Given the description of an element on the screen output the (x, y) to click on. 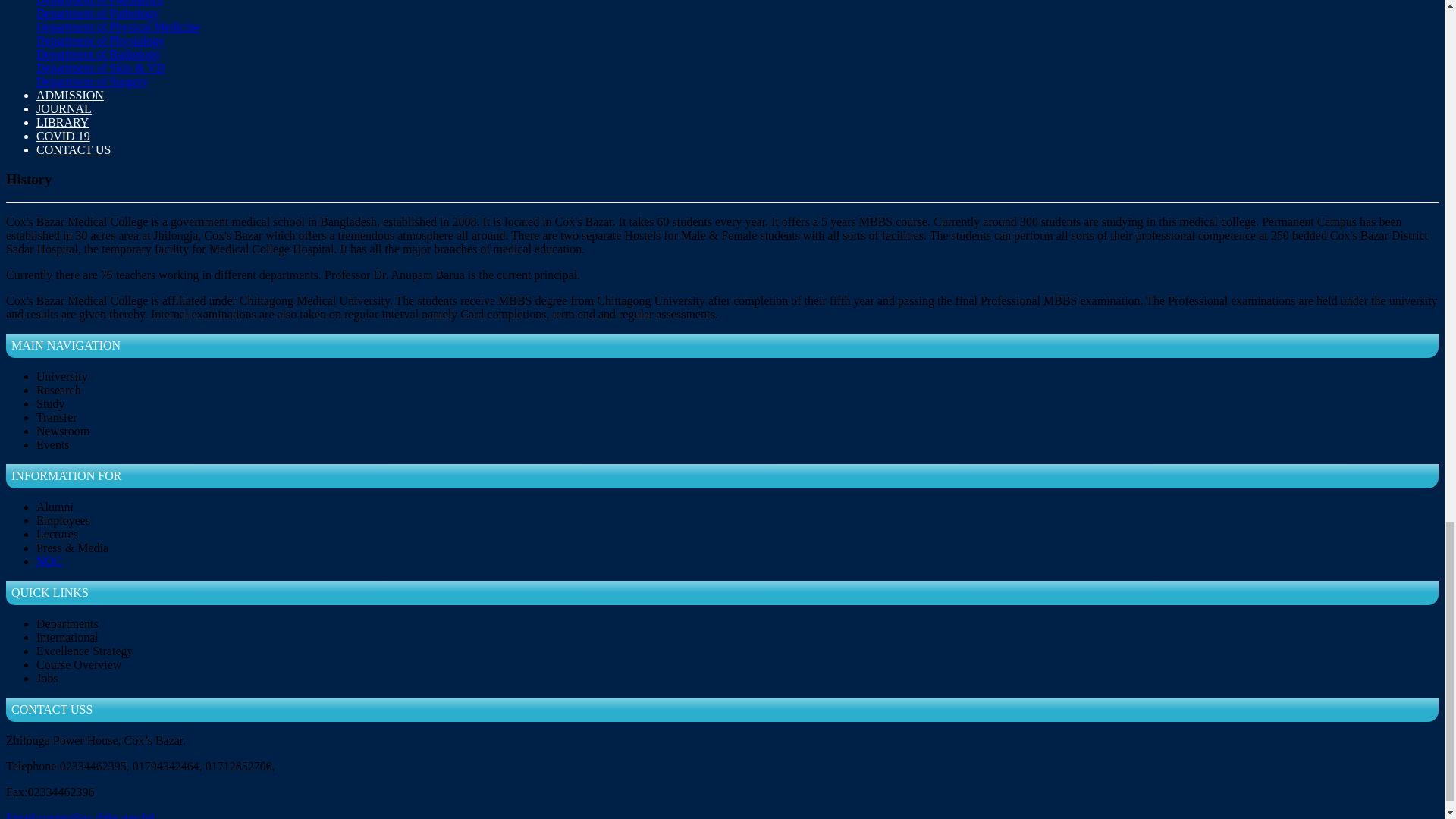
Department of Radiology (98, 53)
Department of Pathology (97, 12)
Department of Surgery (92, 81)
Department of Physiology (100, 40)
Department of Paediatrics (99, 2)
Department of Physical Medicine (118, 26)
